Given the description of an element on the screen output the (x, y) to click on. 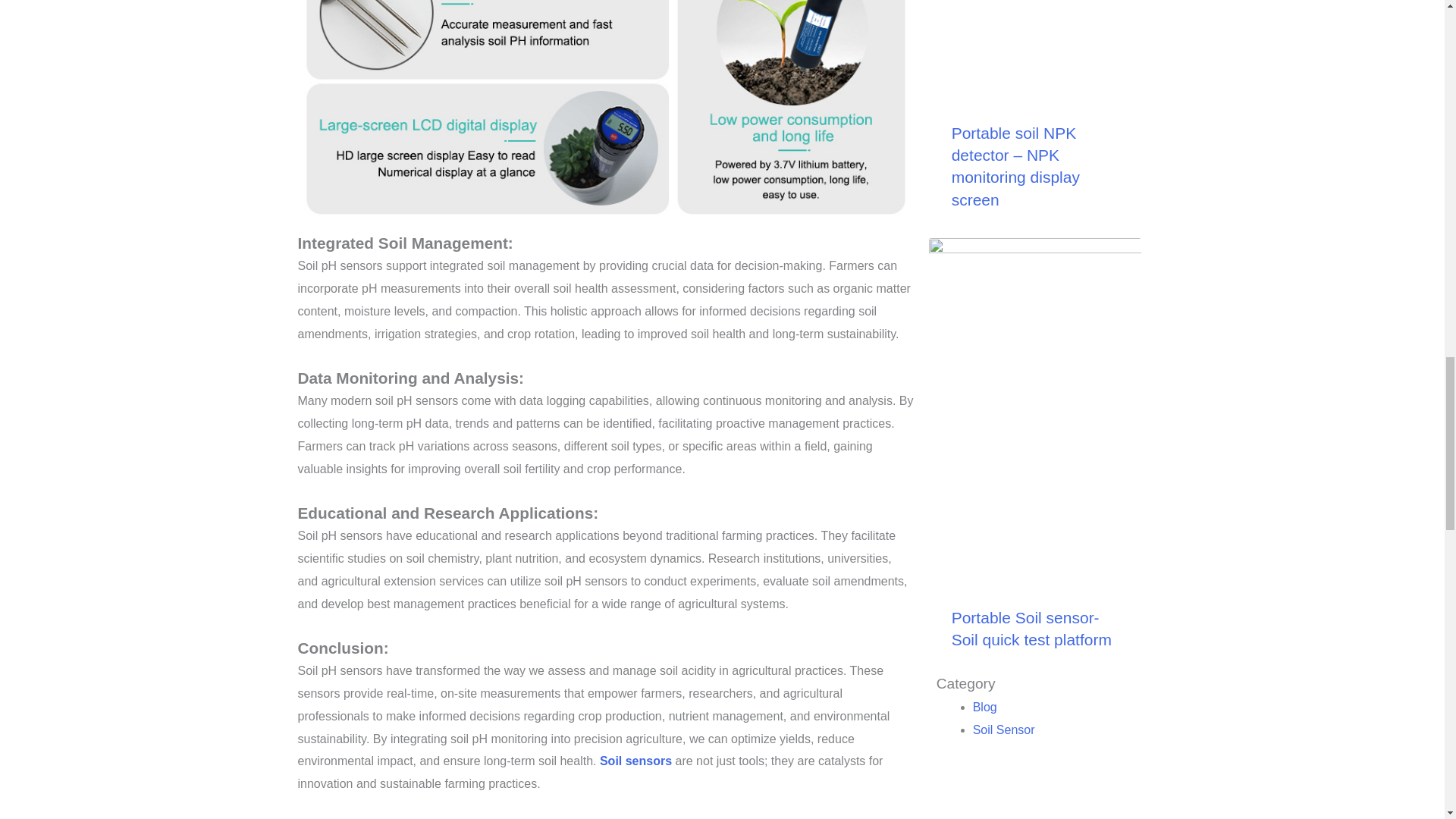
Soil sensors (635, 760)
